Given the description of an element on the screen output the (x, y) to click on. 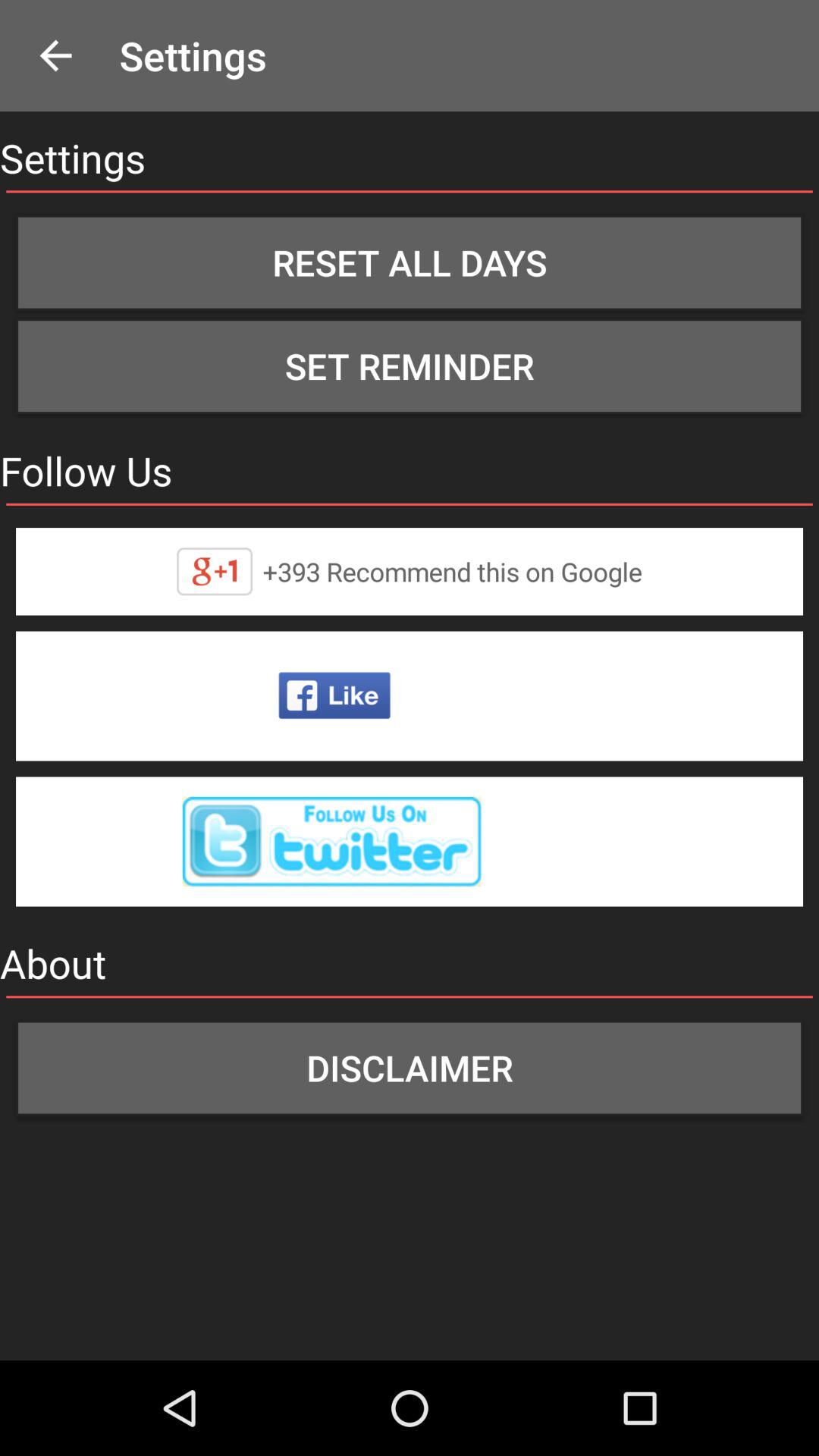
swipe to the reset all days (409, 262)
